Given the description of an element on the screen output the (x, y) to click on. 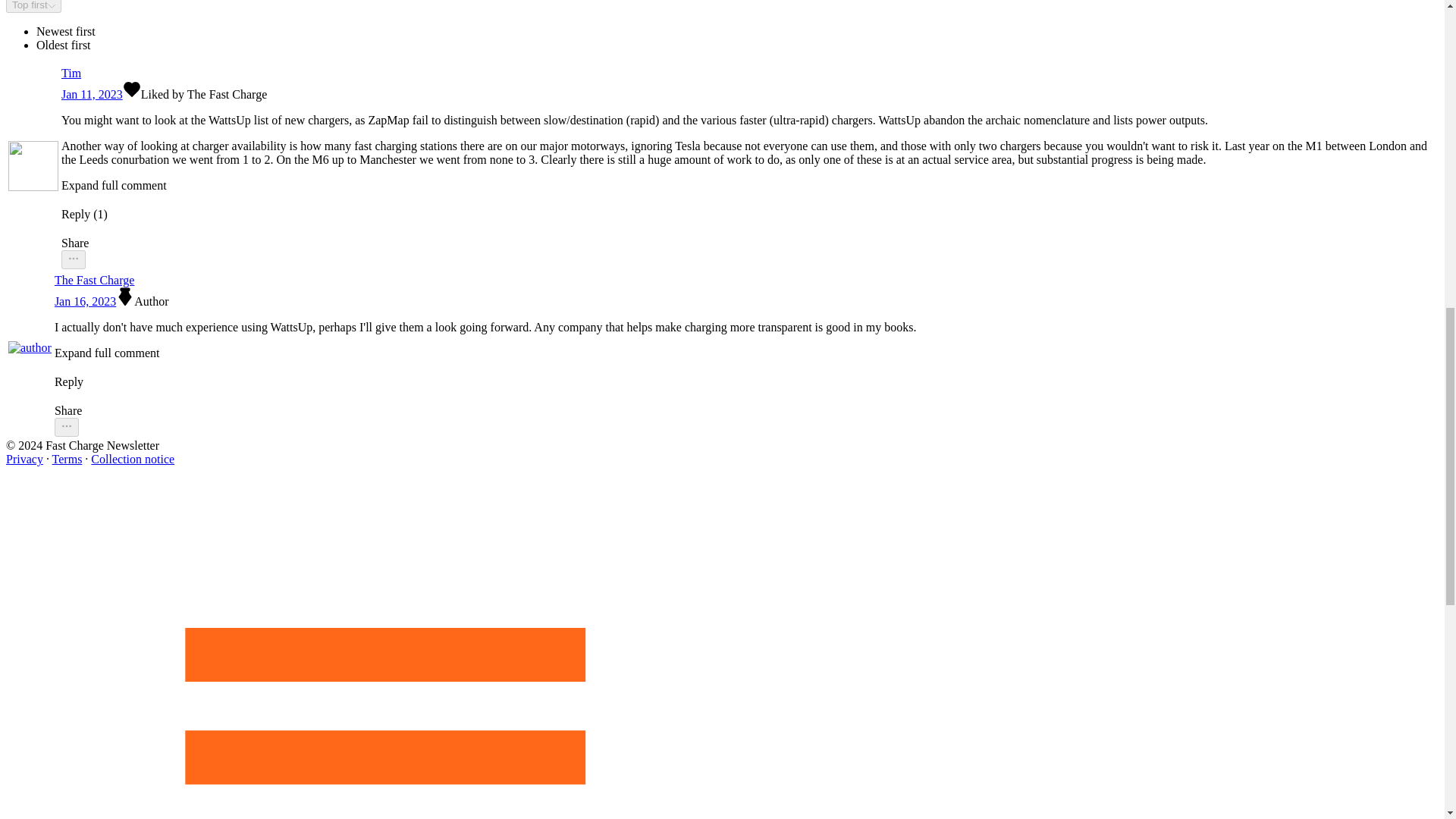
The Fast Charge (486, 280)
Jan 16, 2023 (85, 300)
Jan 11, 2023 (91, 93)
Oldest first (63, 44)
Reply (486, 374)
Share (486, 411)
Newest first (66, 31)
Top first (33, 6)
Privacy (24, 459)
